Given the description of an element on the screen output the (x, y) to click on. 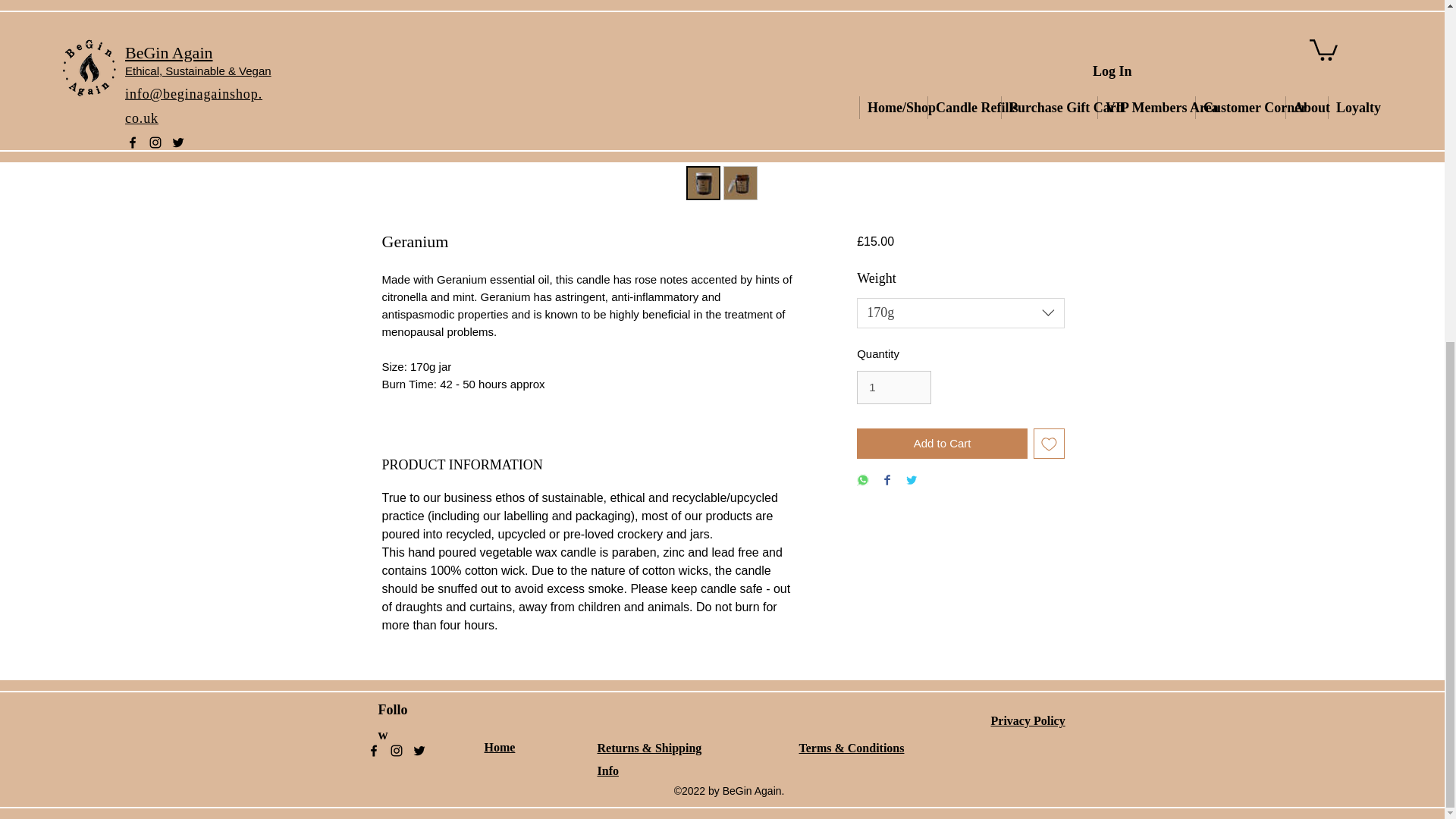
Add to Cart (942, 443)
170g (960, 313)
1 (894, 387)
